Given the description of an element on the screen output the (x, y) to click on. 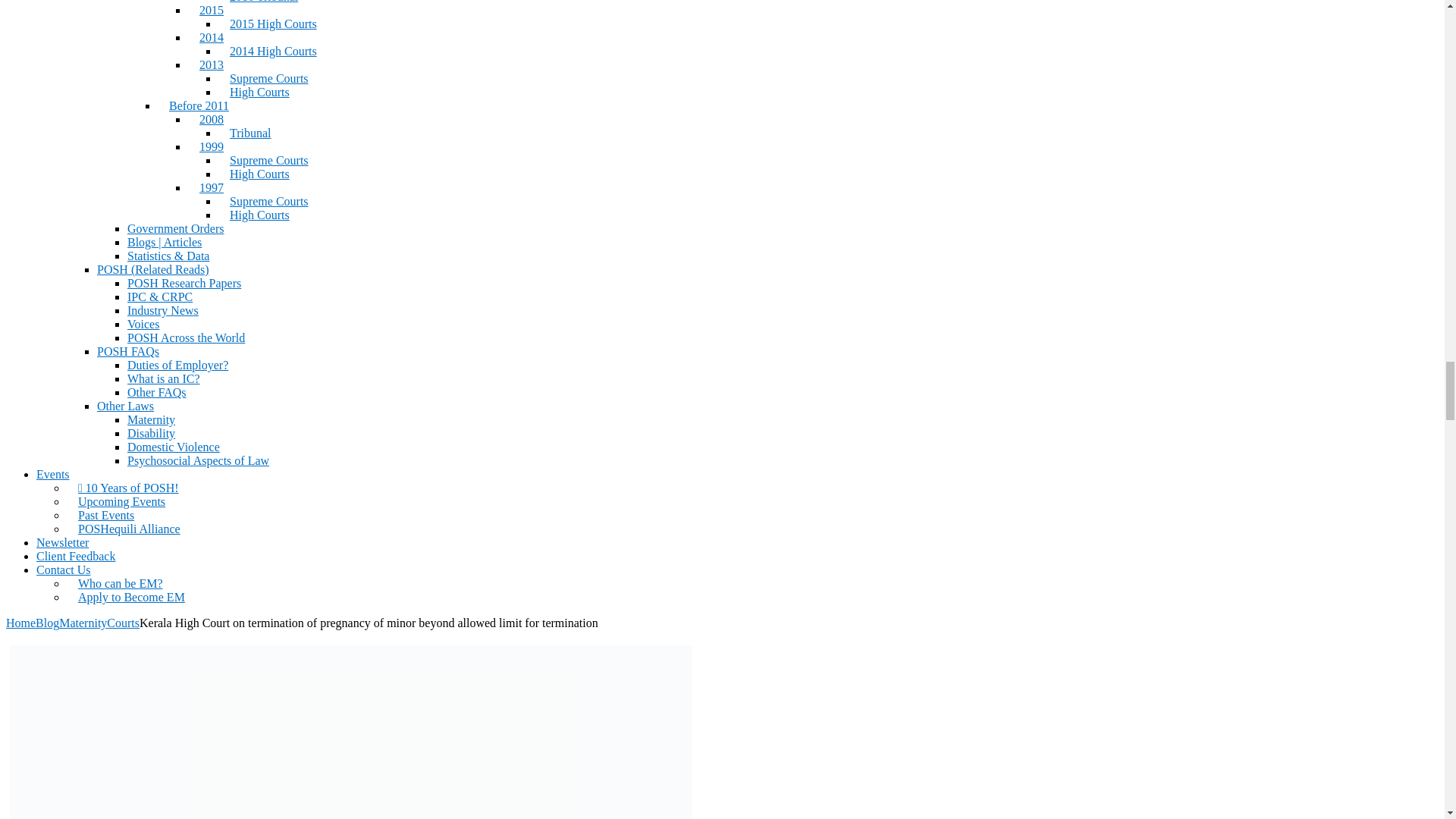
Home (19, 622)
Blog (46, 622)
Maternity (82, 622)
Courts (122, 622)
